Given the description of an element on the screen output the (x, y) to click on. 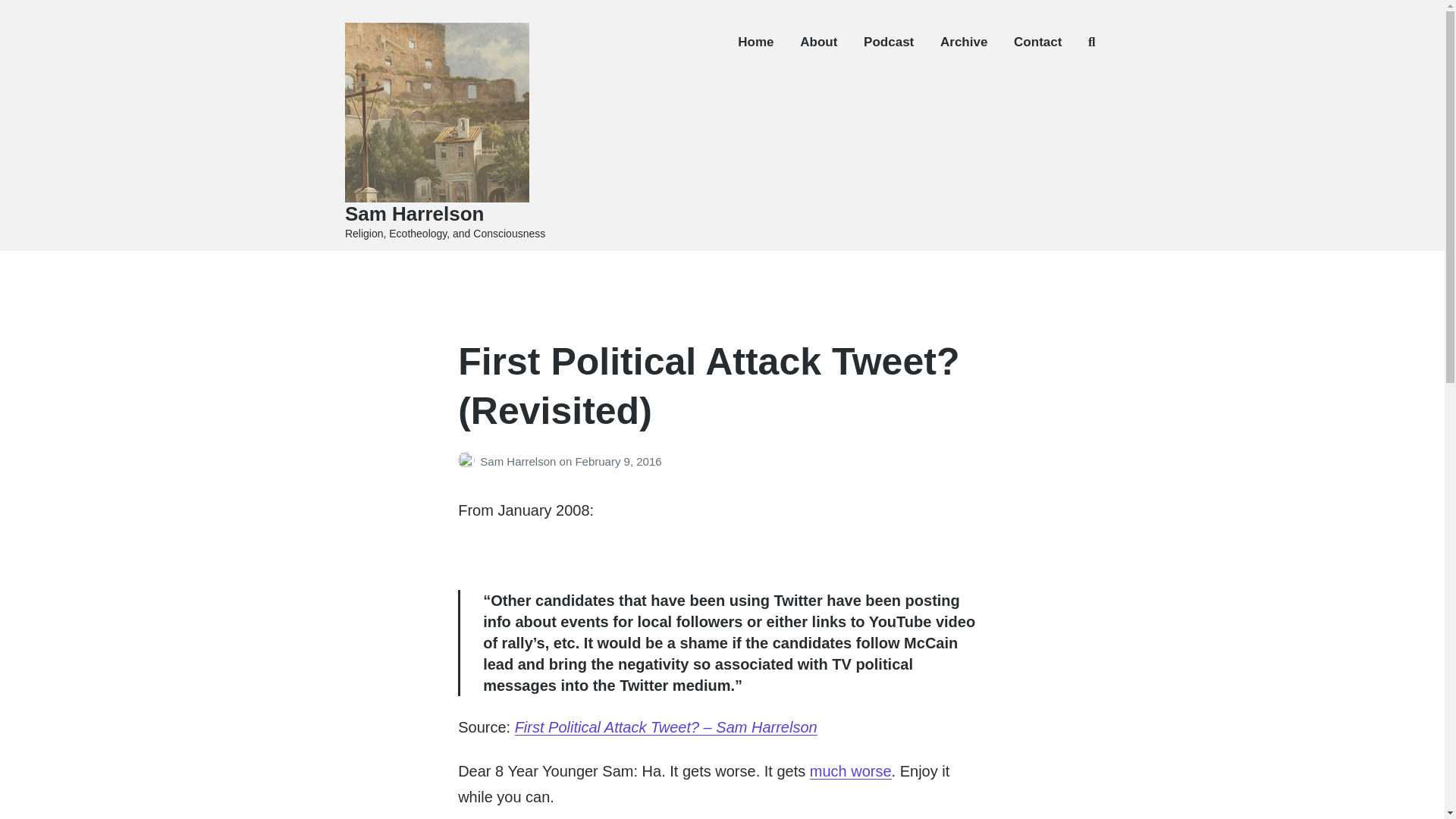
Contact (1037, 42)
Posts by Sam Harrelson (469, 461)
Home (755, 42)
Archive (963, 42)
Podcast (888, 42)
About (818, 42)
Sam Harrelson (519, 461)
much worse (850, 770)
Sam Harrelson (414, 213)
